Given the description of an element on the screen output the (x, y) to click on. 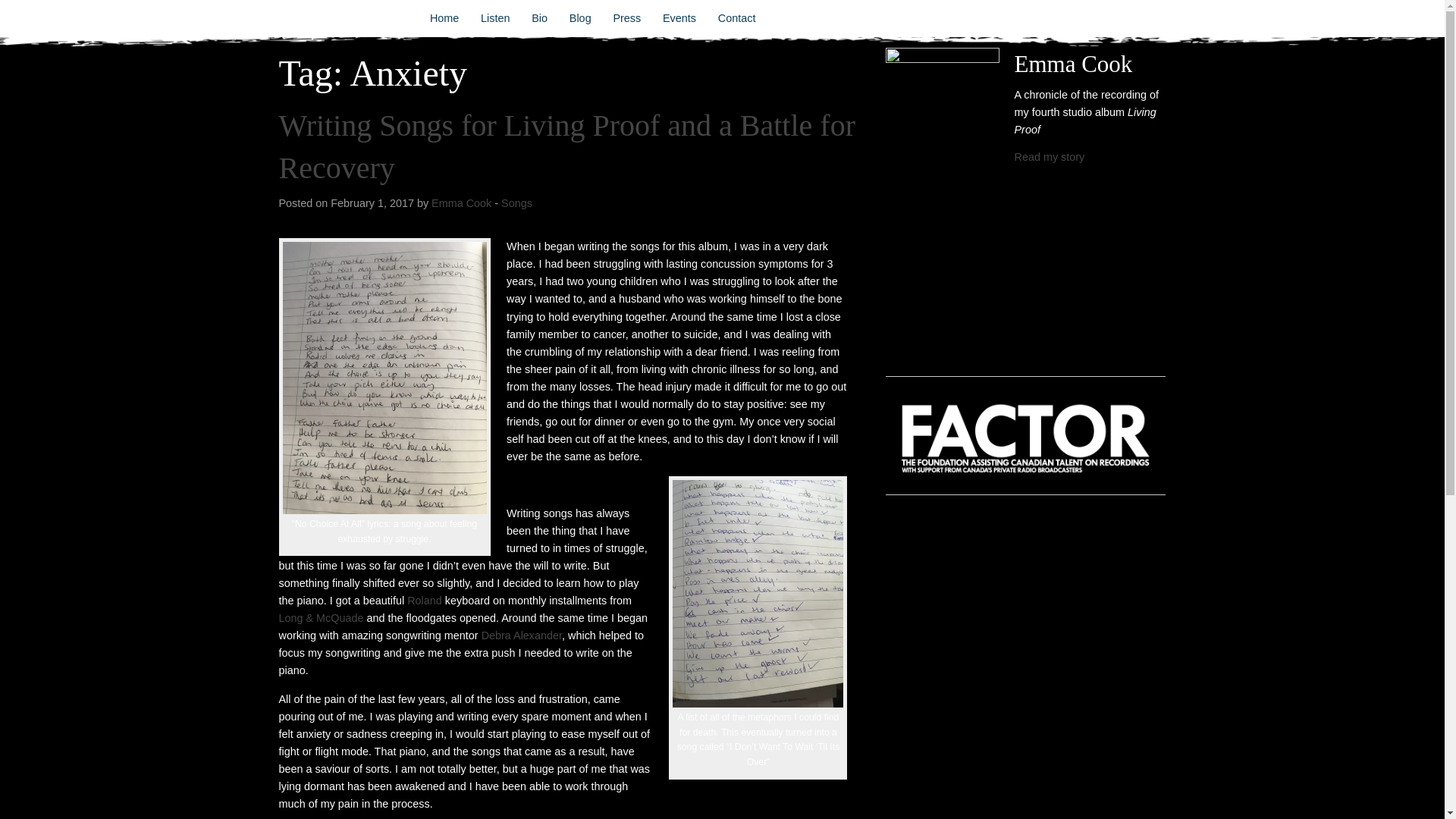
Read my story (1049, 156)
Blog (579, 17)
Roland (424, 600)
Emma Cook (461, 203)
Listen (495, 17)
Debra Alexander (521, 635)
Home (443, 17)
Press (627, 17)
Bio (540, 17)
Contact (735, 17)
